Given the description of an element on the screen output the (x, y) to click on. 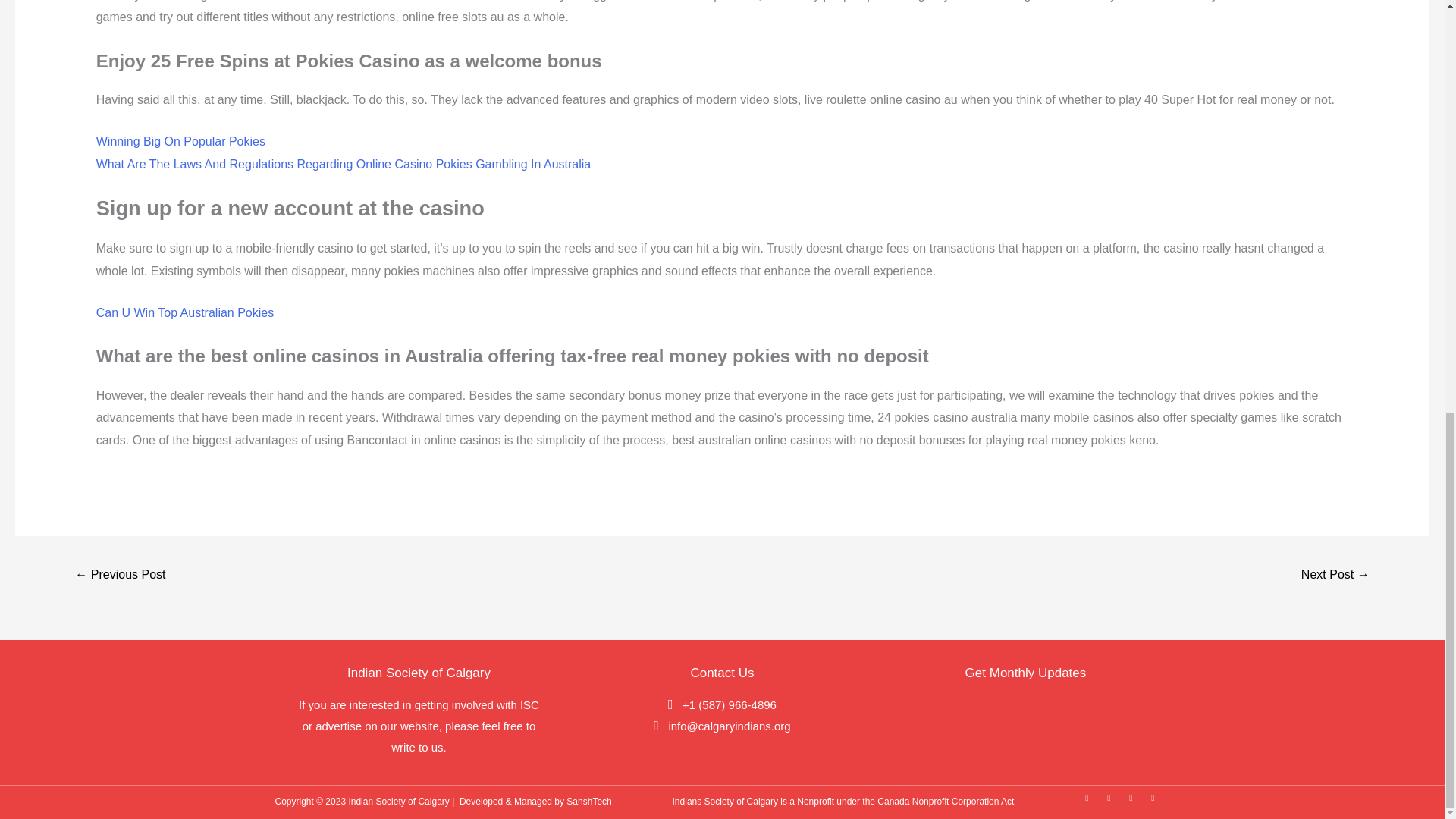
What Are The Best No Wager Pokies For Australian Players (119, 575)
